Given the description of an element on the screen output the (x, y) to click on. 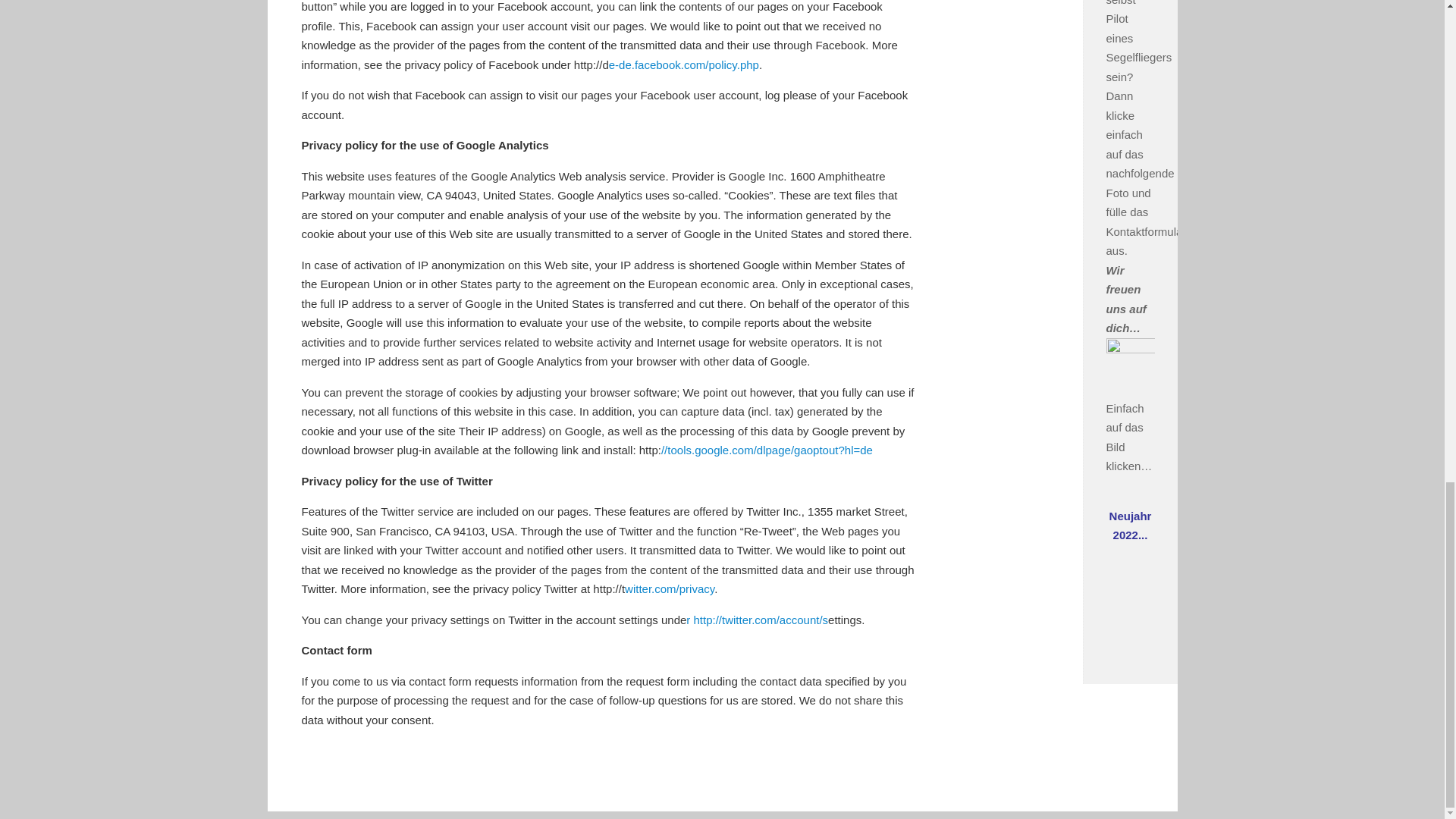
987d6c61-25ee-4f82-ba9e-9d7df2e6d81f.MP4 (1129, 587)
